Given the description of an element on the screen output the (x, y) to click on. 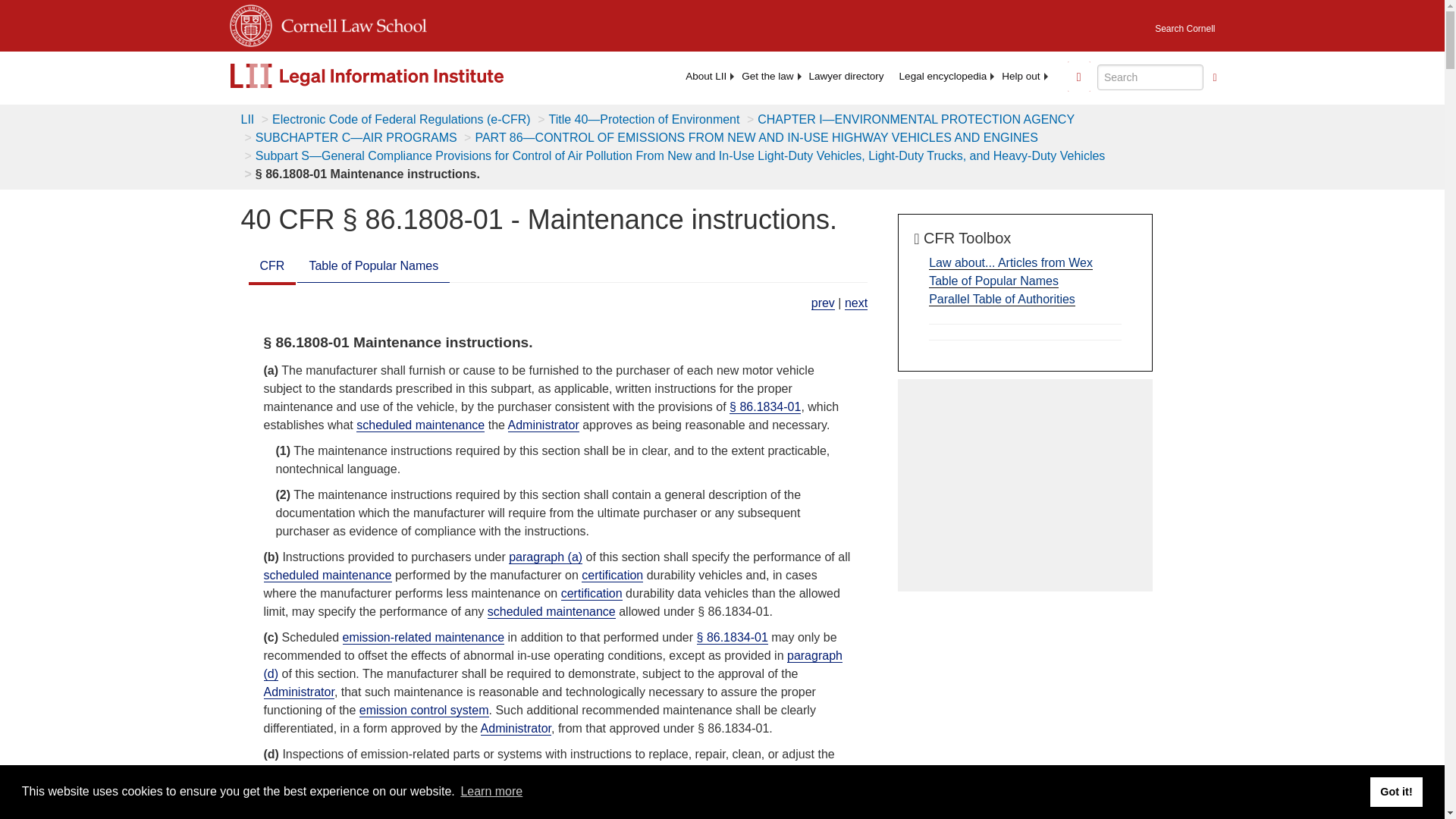
3rd party ad content (1025, 485)
Prohibition of defeat devices. (855, 303)
Got it! (1396, 791)
Search Cornell University (1184, 24)
Legal encyclopedia (942, 76)
Search Cornell (1184, 24)
Cornell Law School (348, 23)
Lawyer directory (846, 76)
Cornell University (249, 23)
About LII (705, 76)
Cornell Law School (348, 23)
Vehicle labeling. (822, 303)
Learn more (491, 791)
Get the law (766, 76)
